Given the description of an element on the screen output the (x, y) to click on. 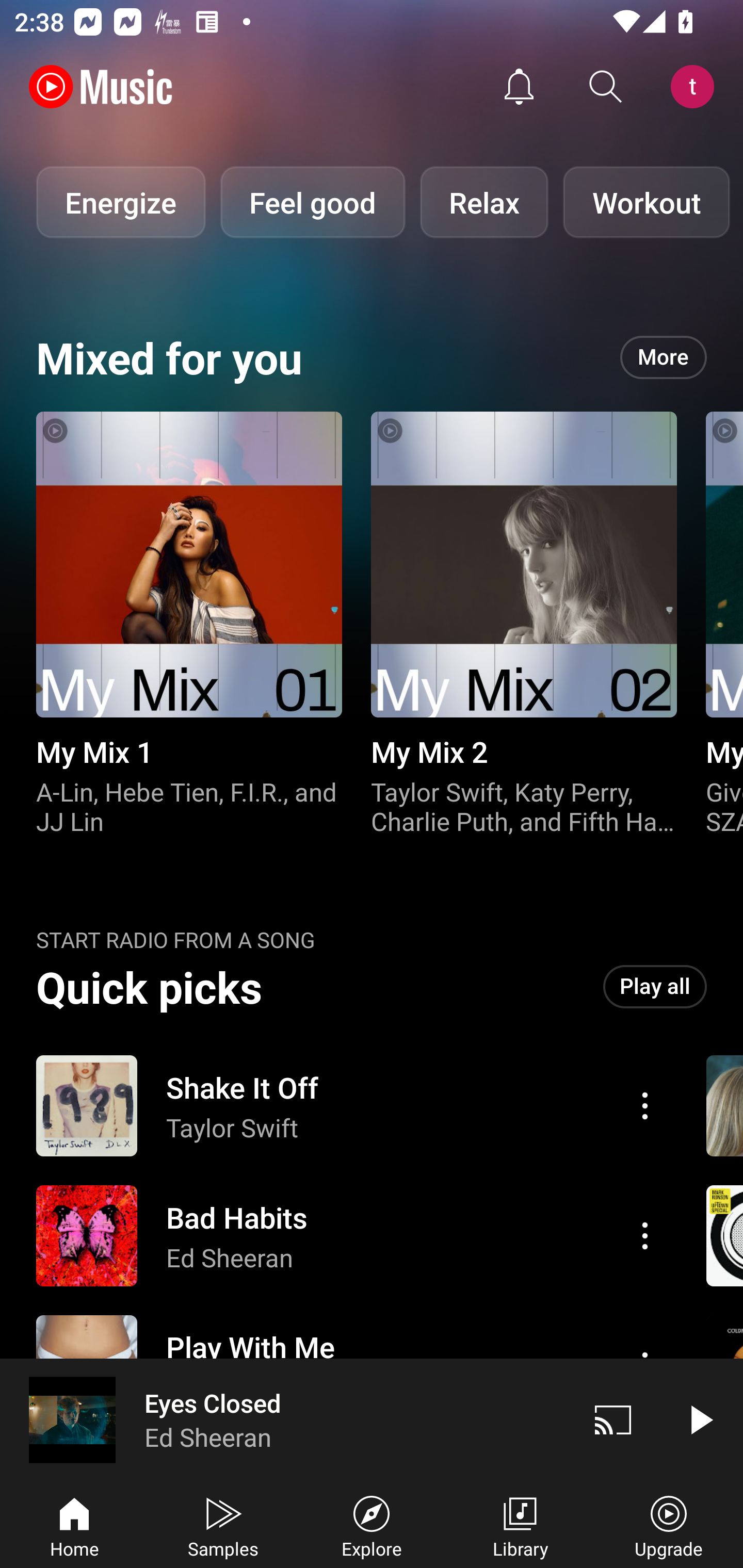
Activity feed (518, 86)
Search (605, 86)
Account (696, 86)
Action menu (349, 1106)
Action menu (644, 1106)
Action menu (349, 1236)
Action menu (644, 1235)
Eyes Closed Ed Sheeran (284, 1419)
Cast. Disconnected (612, 1419)
Play video (699, 1419)
Home (74, 1524)
Samples (222, 1524)
Explore (371, 1524)
Library (519, 1524)
Upgrade (668, 1524)
